Given the description of an element on the screen output the (x, y) to click on. 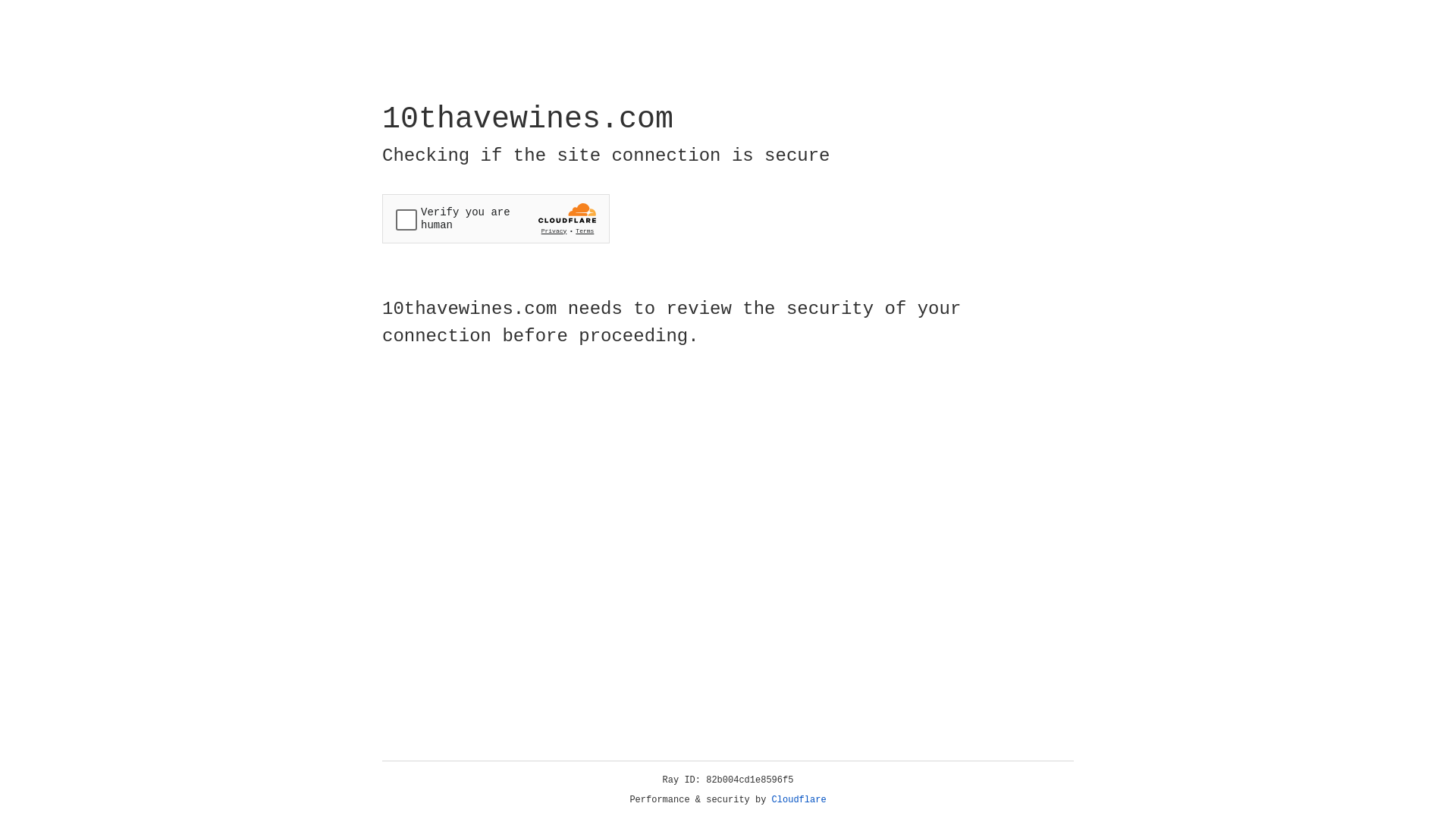
Widget containing a Cloudflare security challenge Element type: hover (495, 218)
Cloudflare Element type: text (798, 799)
